Given the description of an element on the screen output the (x, y) to click on. 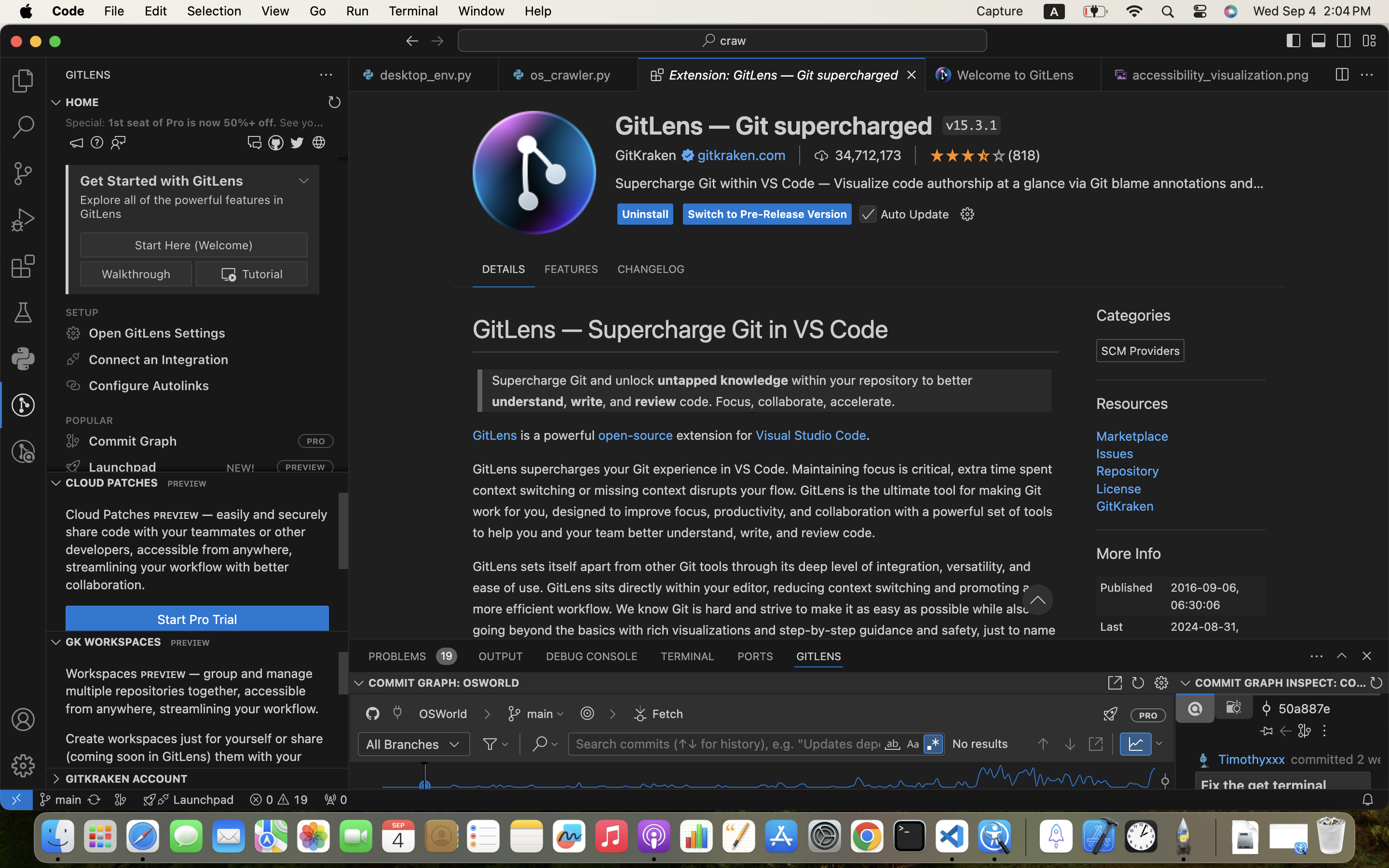
 Element type: AXGroup (23, 765)
More Info Element type: AXStaticText (1128, 552)
EA Element type: AXStaticText (423, 609)
Quick Access Element type: AXStaticText (1101, 465)
 Element type: AXButton (1114, 682)
